Given the description of an element on the screen output the (x, y) to click on. 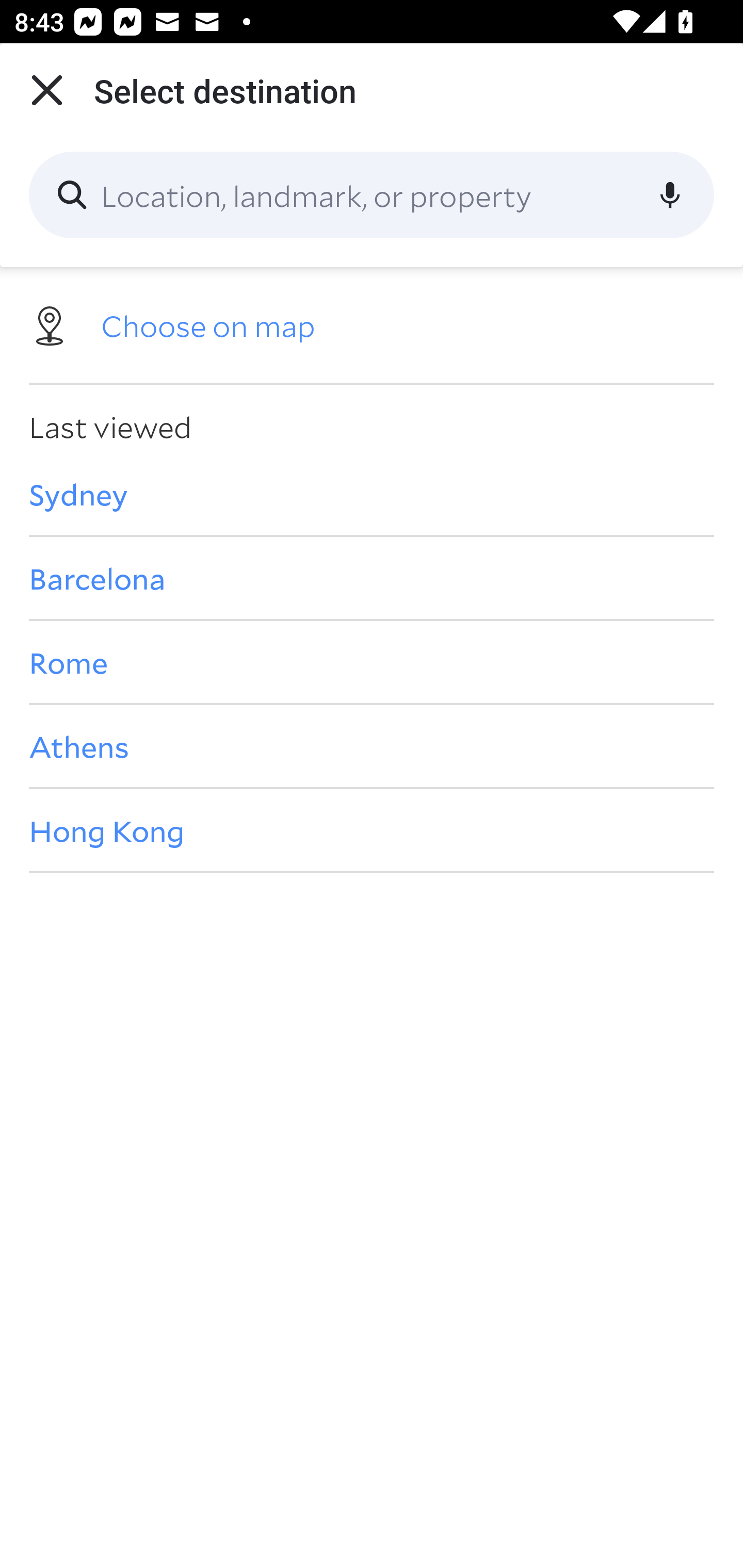
Location, landmark, or property (371, 195)
Choose on map (371, 324)
Sydney (371, 493)
Barcelona (371, 577)
Rome (371, 661)
Athens (371, 746)
Hong Kong (371, 829)
